Given the description of an element on the screen output the (x, y) to click on. 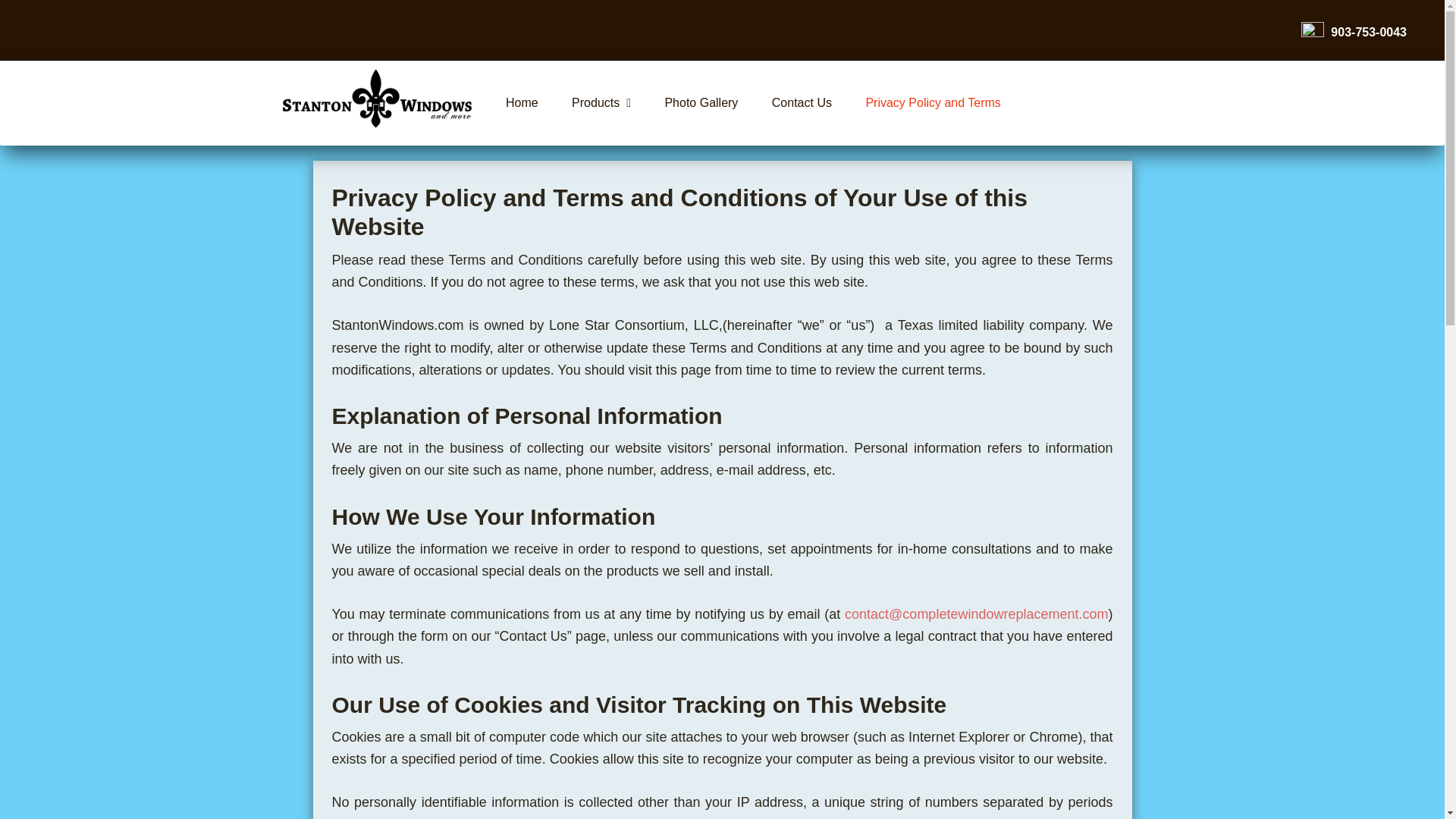
Photo Gallery (700, 103)
  903-753-0043 (1353, 31)
Contact Us (802, 103)
Home2 (376, 103)
Privacy Policy and Terms (932, 103)
Home (521, 103)
